Given the description of an element on the screen output the (x, y) to click on. 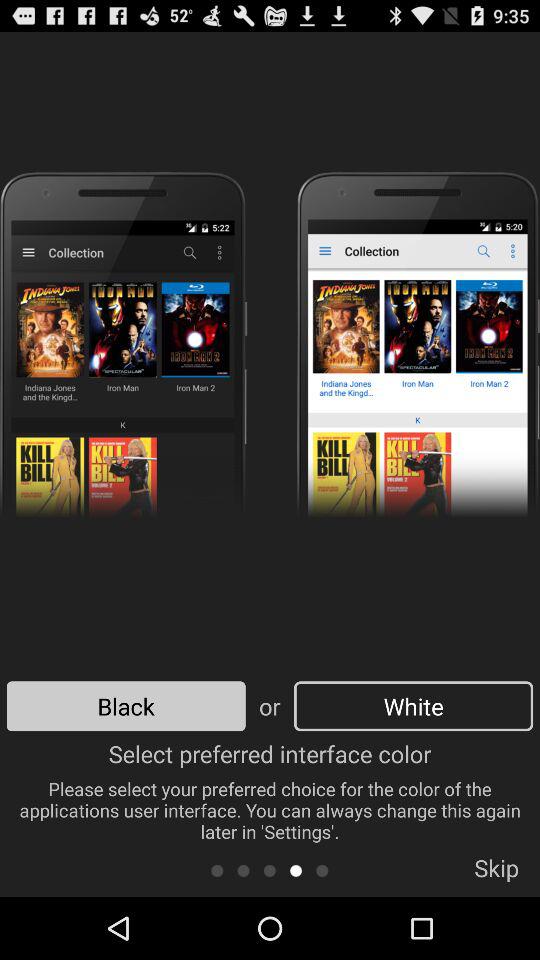
go to page 2 (243, 870)
